Given the description of an element on the screen output the (x, y) to click on. 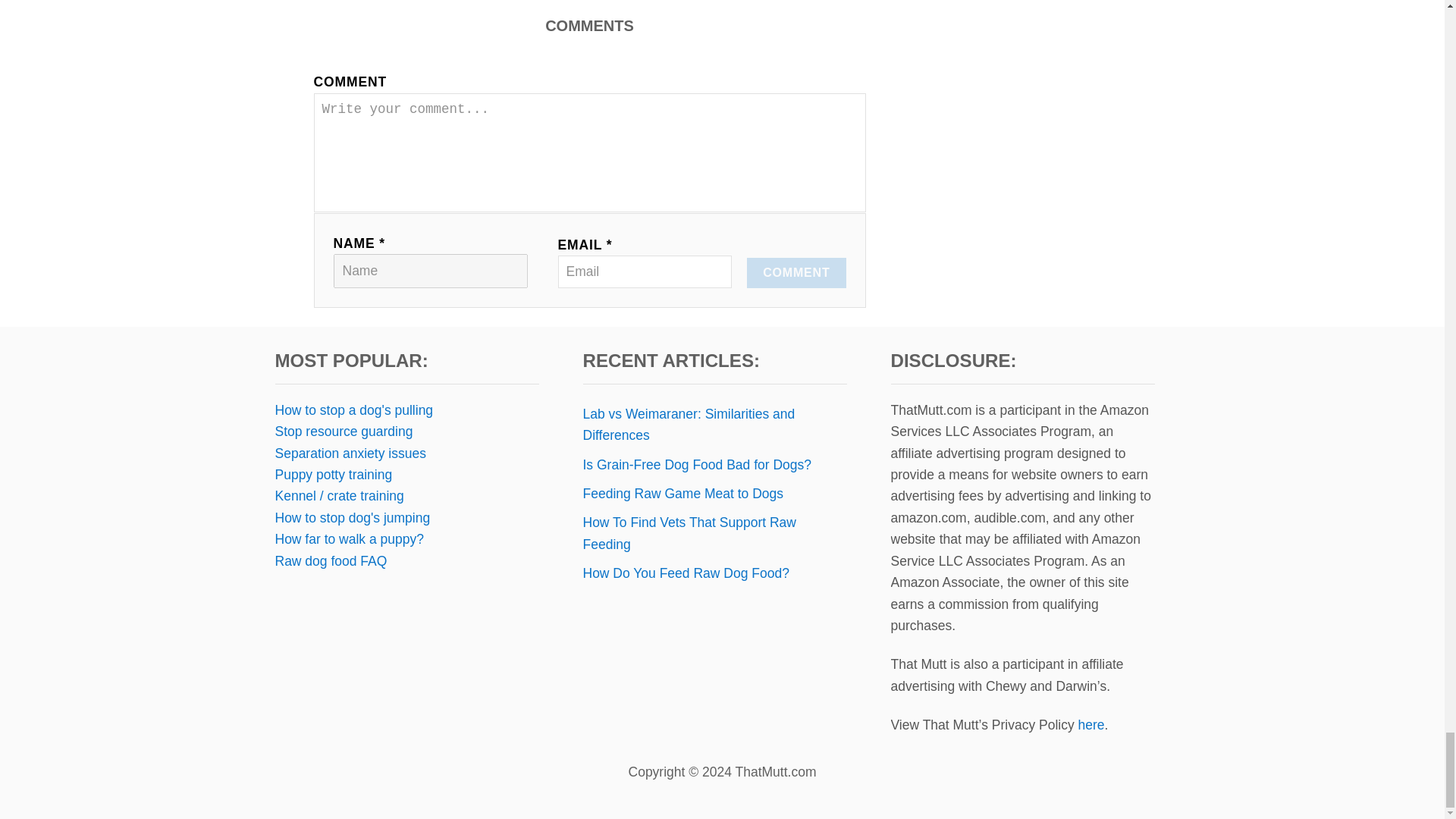
Raw dog food FAQ (331, 560)
COMMENT (795, 272)
Lab vs Weimaraner: Similarities and Differences (713, 424)
Puppy potty training (333, 474)
How to stop a dog's pulling (353, 409)
How to stop dog's jumping (352, 517)
How far to walk a puppy? (349, 539)
Stop resource guarding (343, 431)
Separation anxiety issues (350, 453)
